Given the description of an element on the screen output the (x, y) to click on. 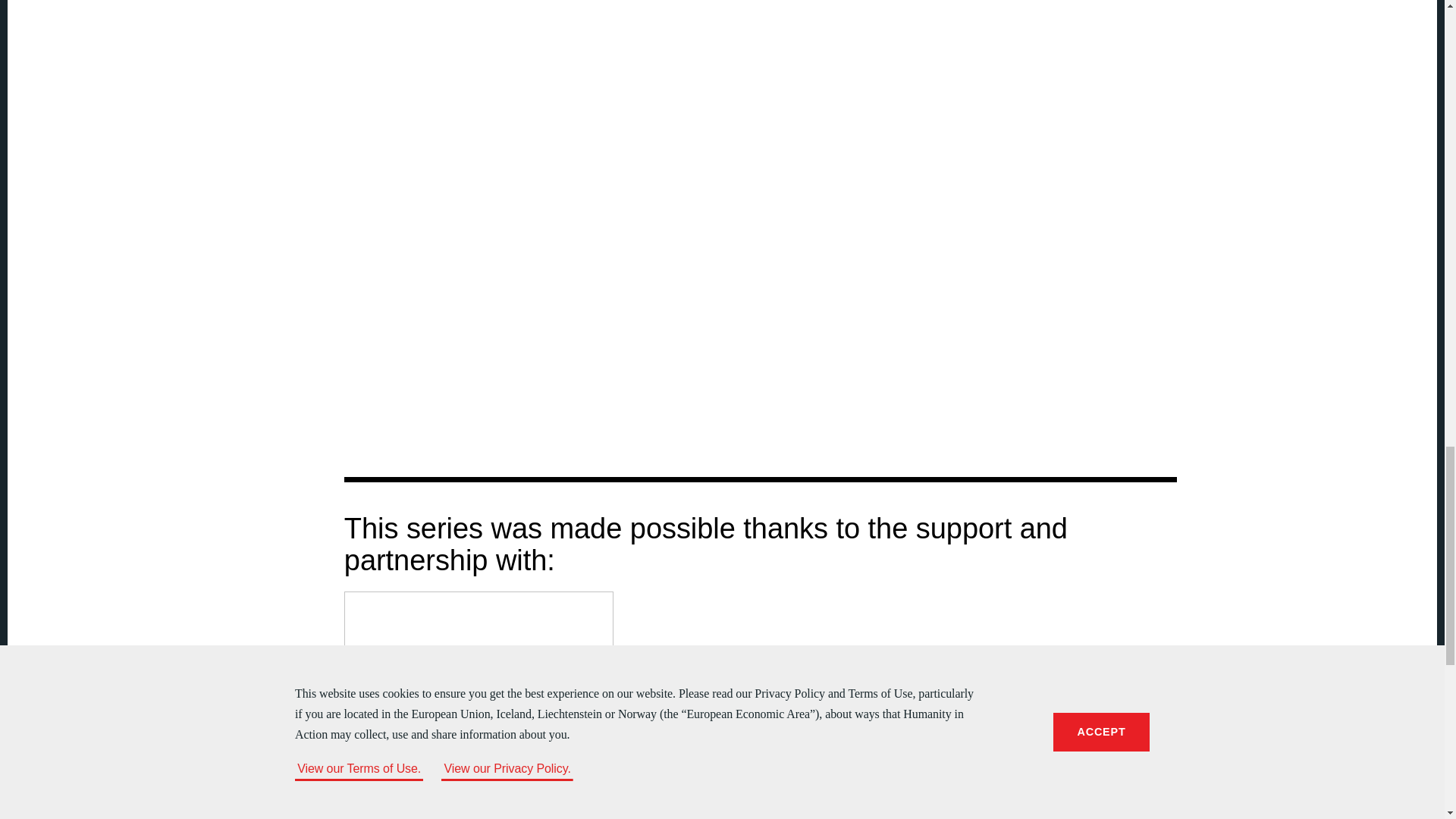
Bertelsmann Foundation, North America (478, 705)
